Given the description of an element on the screen output the (x, y) to click on. 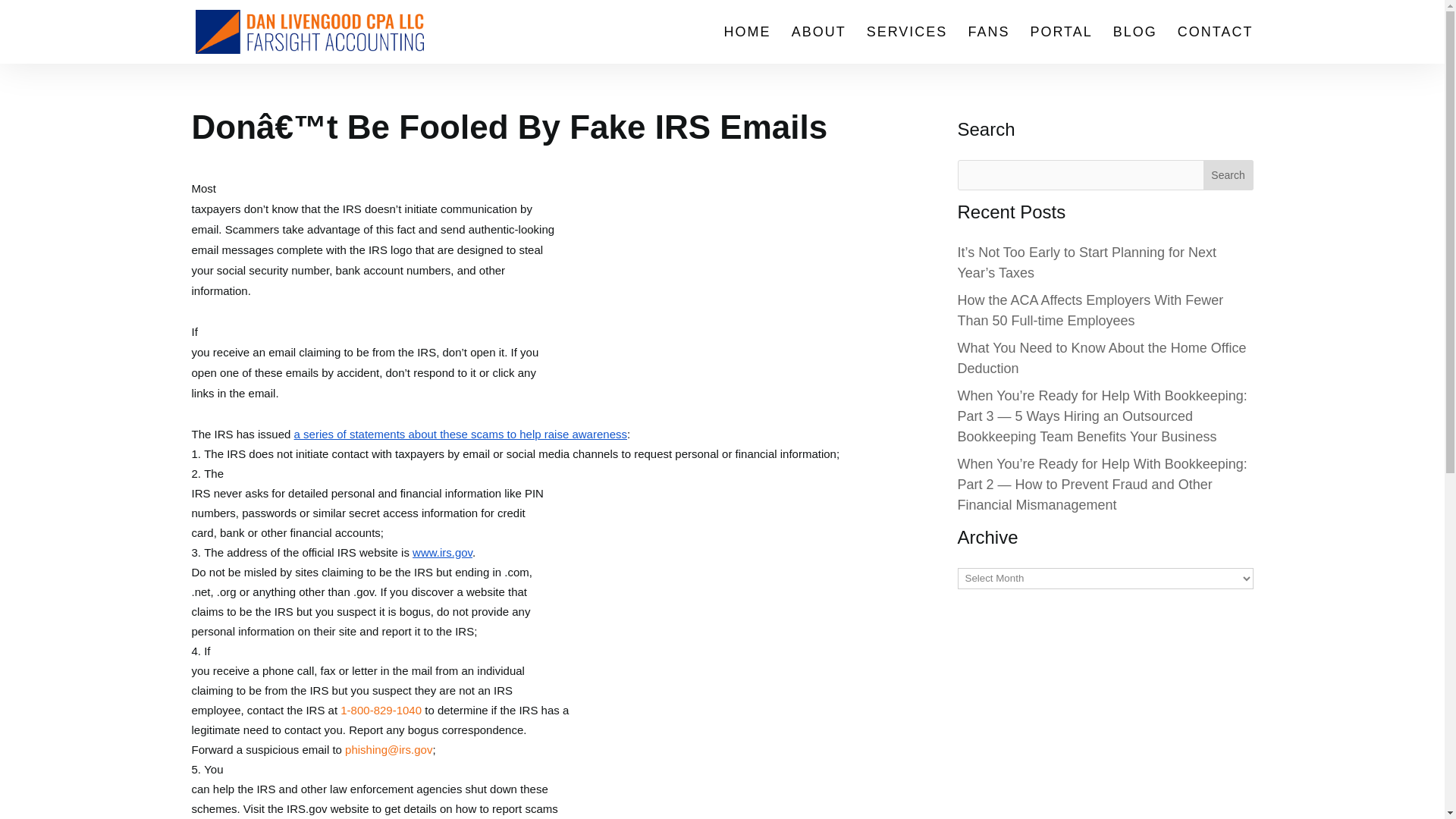
ABOUT (818, 44)
1-800-829-1040 (381, 709)
BLOG (1135, 44)
www.irs.gov (440, 552)
SERVICES (906, 44)
Search (1228, 174)
CONTACT (1215, 44)
PORTAL (1060, 44)
What You Need to Know About the Home Office Deduction (1101, 357)
HOME (747, 44)
